Given the description of an element on the screen output the (x, y) to click on. 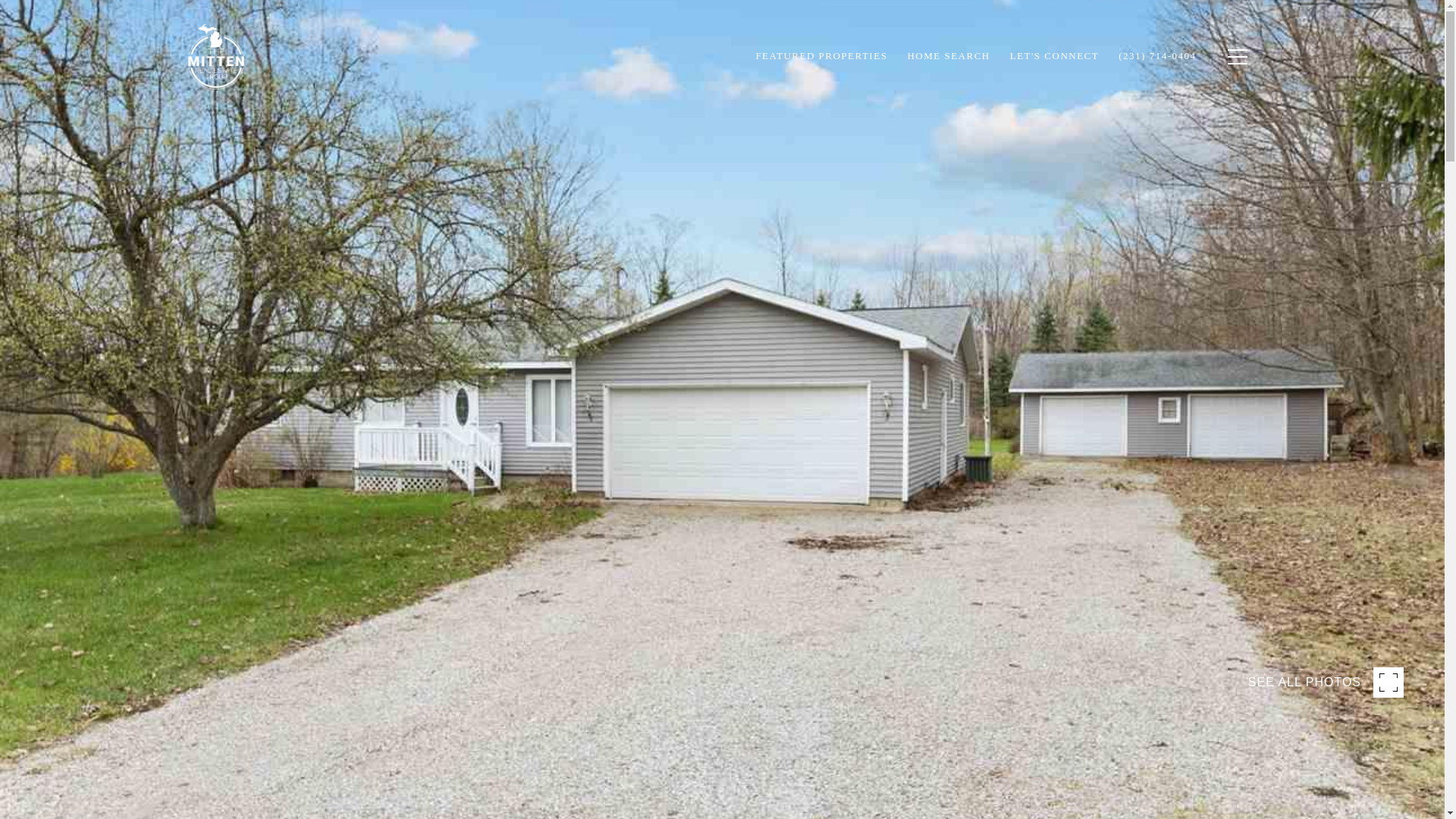
HOME SEARCH (947, 55)
FEATURED PROPERTIES (820, 55)
LET'S CONNECT (1054, 55)
